Given the description of an element on the screen output the (x, y) to click on. 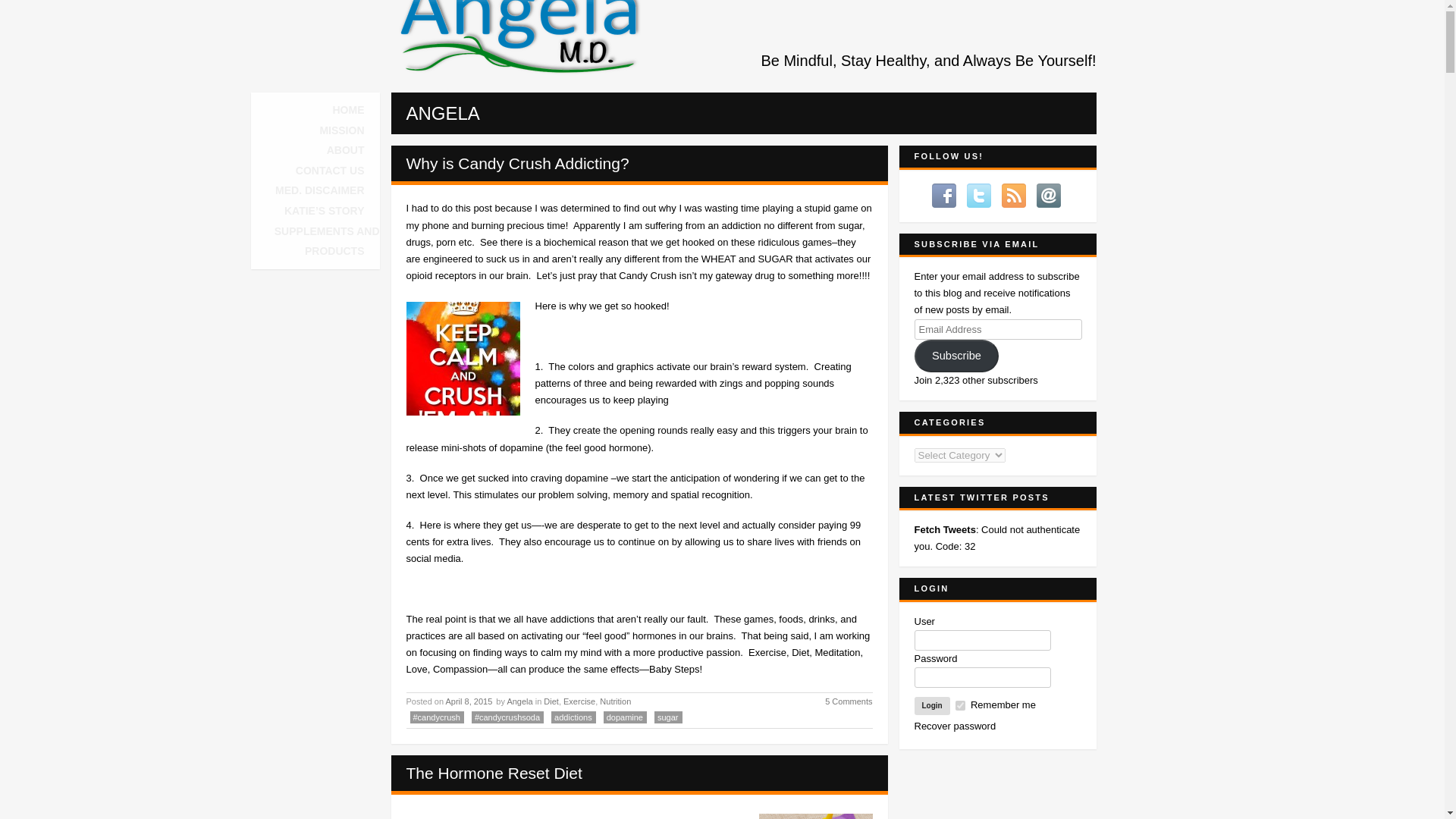
Angela (519, 700)
About Me (345, 150)
April 8, 2015 (470, 700)
Diet (551, 700)
Exercise (579, 700)
Why is Candy Crush Addicting? (517, 162)
Login (932, 705)
Disclaimer (319, 190)
The Hormone Reset Diet (494, 773)
dopamine (625, 717)
CONTACT US (330, 170)
SUPPLEMENTS AND PRODUCTS (319, 241)
MED. DISCAIMER (319, 190)
Read Why is Candy Crush Addicting? (517, 162)
MISSION (341, 130)
